Given the description of an element on the screen output the (x, y) to click on. 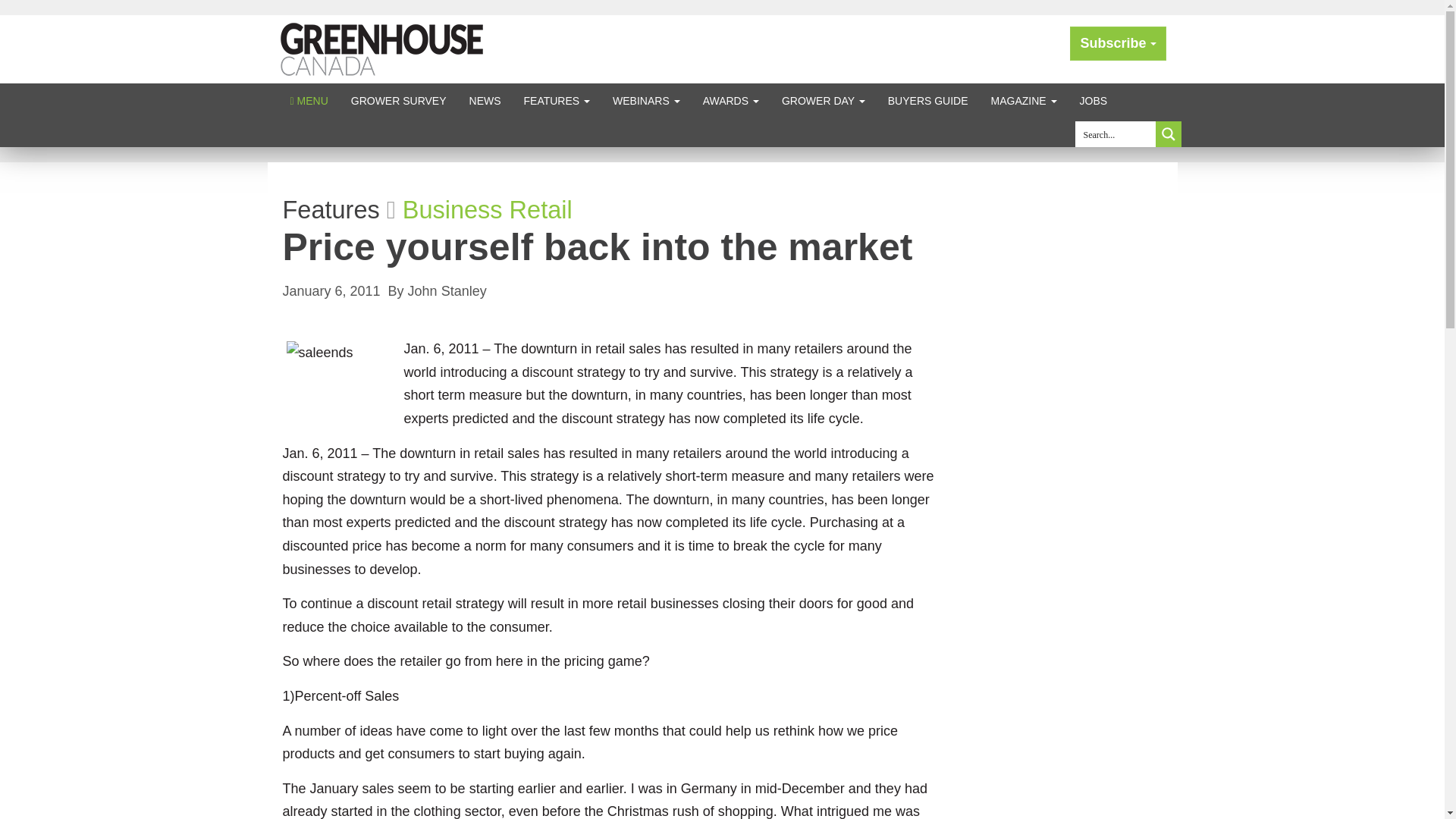
GROWER SURVEY (398, 100)
MAGAZINE (1023, 100)
BUYERS GUIDE (927, 100)
JOBS (1093, 100)
MENU (309, 100)
Subscribe (1118, 43)
Click to show site navigation (309, 100)
Greenhouse Canada (381, 48)
NEWS (485, 100)
AWARDS (730, 100)
